Given the description of an element on the screen output the (x, y) to click on. 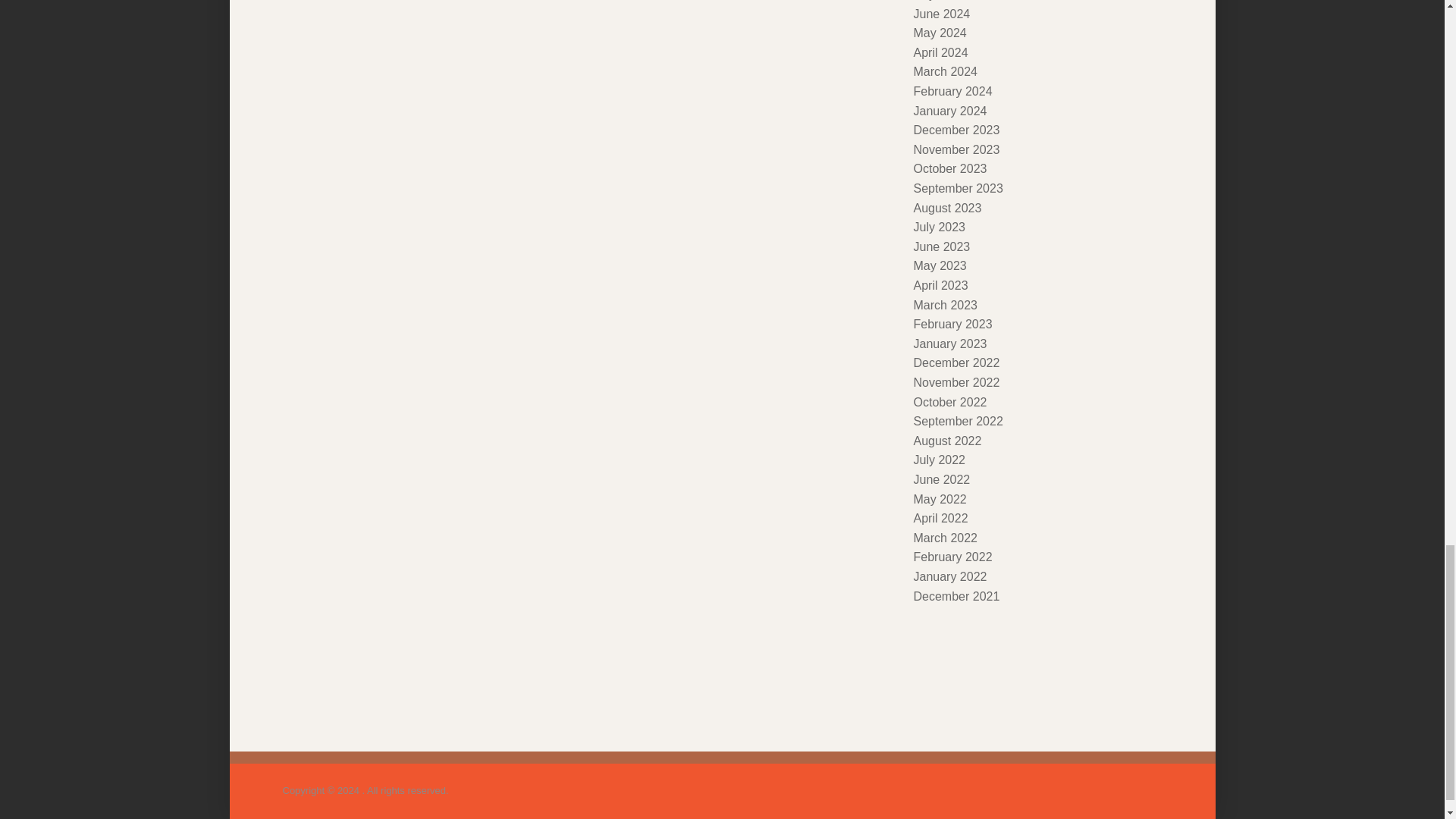
March 2024 (944, 71)
April 2024 (940, 51)
July 2024 (938, 0)
October 2023 (949, 168)
December 2023 (955, 129)
September 2023 (957, 187)
May 2024 (939, 32)
November 2023 (955, 149)
February 2024 (951, 91)
June 2024 (940, 13)
January 2024 (949, 110)
